Given the description of an element on the screen output the (x, y) to click on. 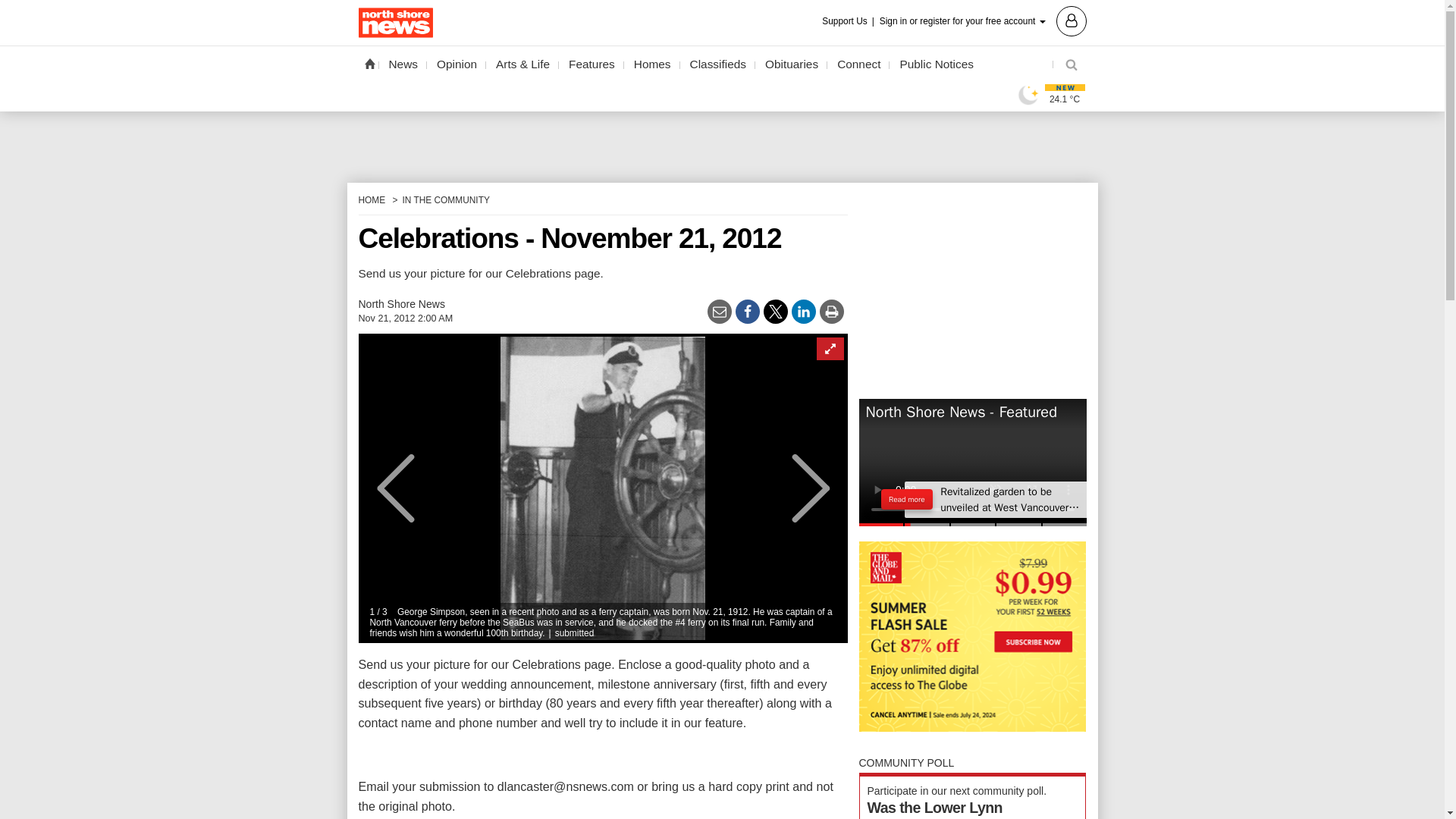
News (403, 64)
Opinion (456, 64)
Expand (829, 348)
3rd party ad content (721, 133)
Sign in or register for your free account (982, 20)
Home (368, 63)
Support Us (849, 21)
3rd party ad content (972, 289)
